Given the description of an element on the screen output the (x, y) to click on. 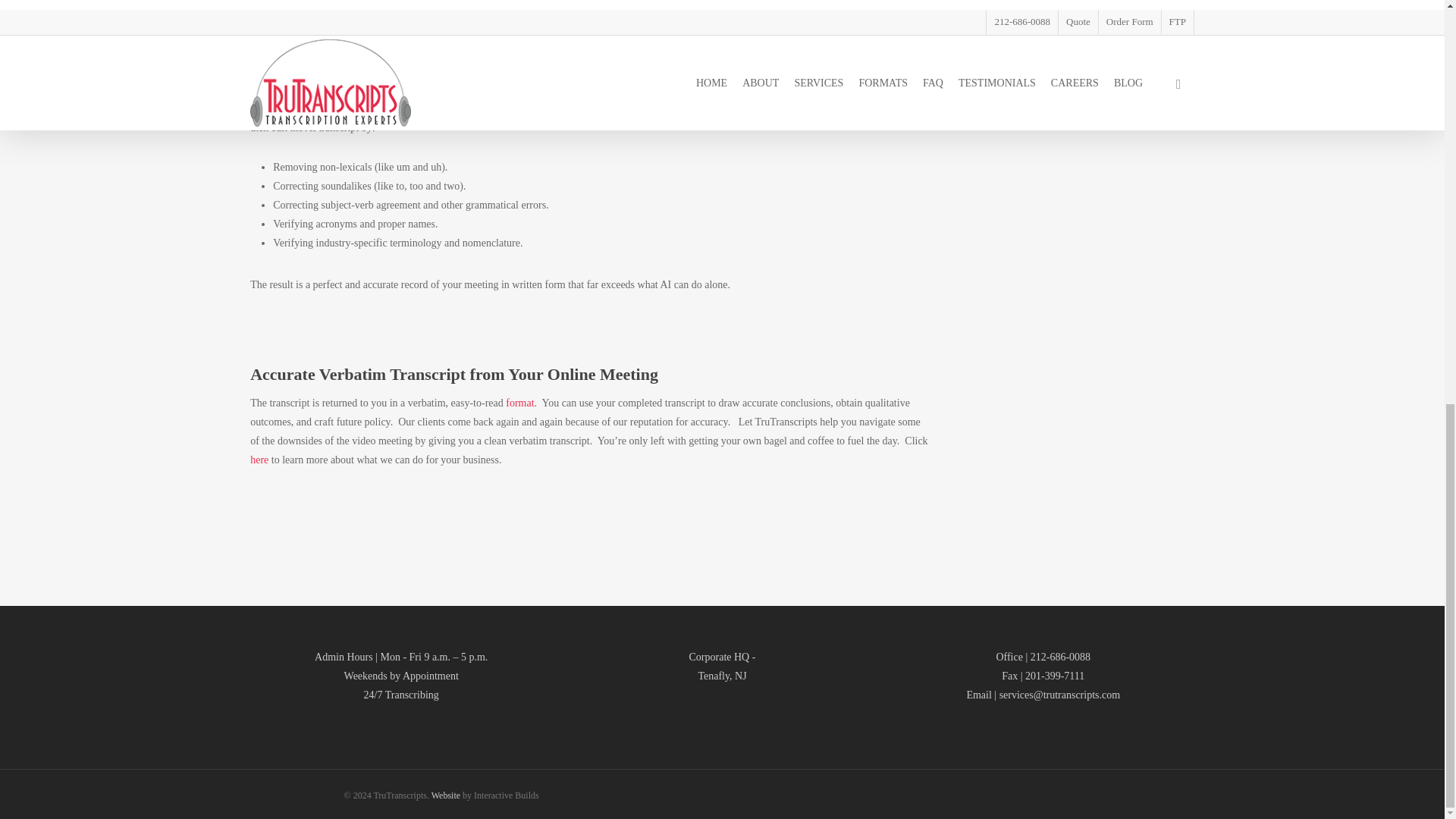
format (519, 402)
Denver  WordPress Design (446, 795)
Website (446, 795)
here (258, 459)
